Given the description of an element on the screen output the (x, y) to click on. 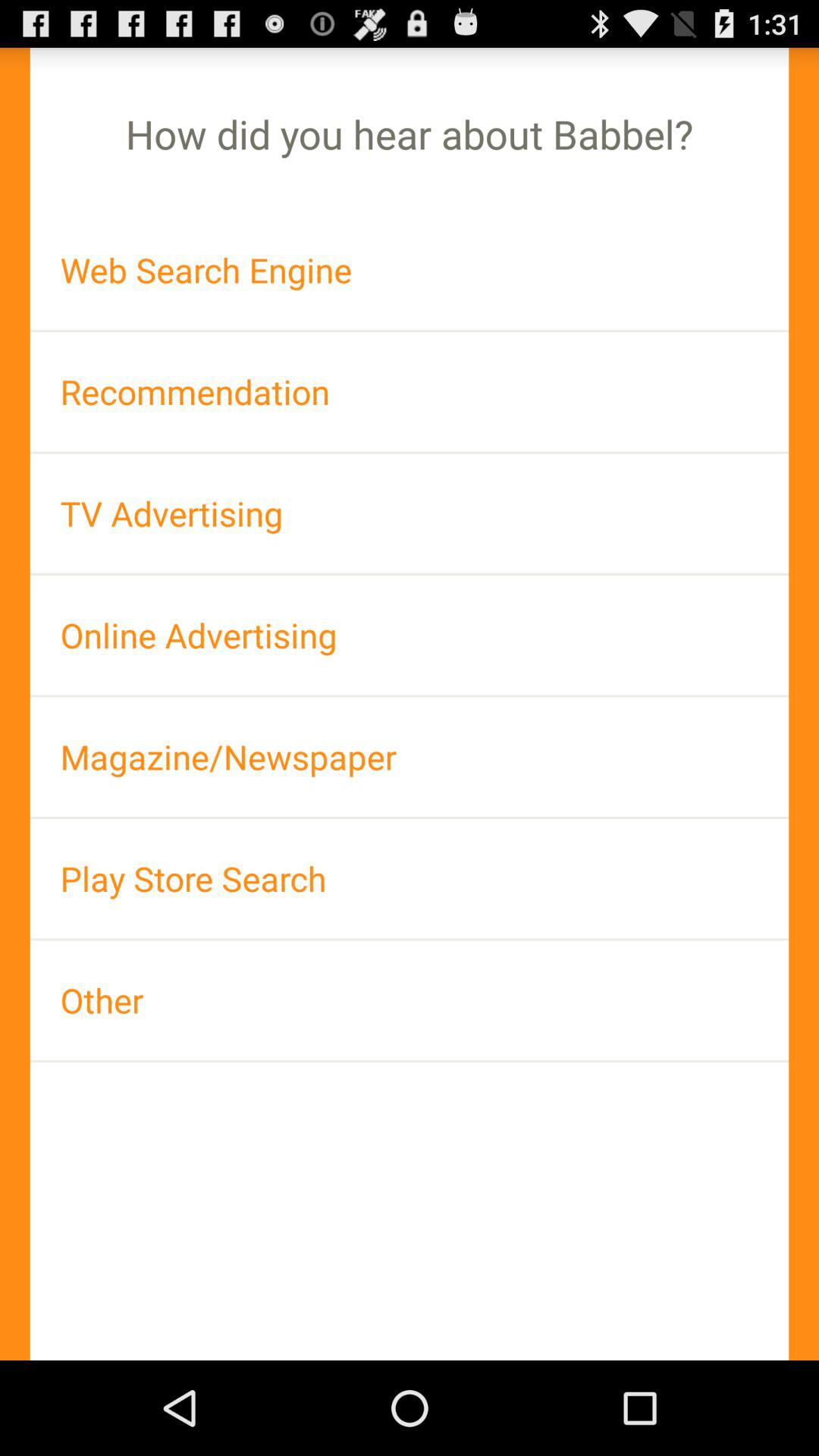
press the online advertising item (409, 635)
